Given the description of an element on the screen output the (x, y) to click on. 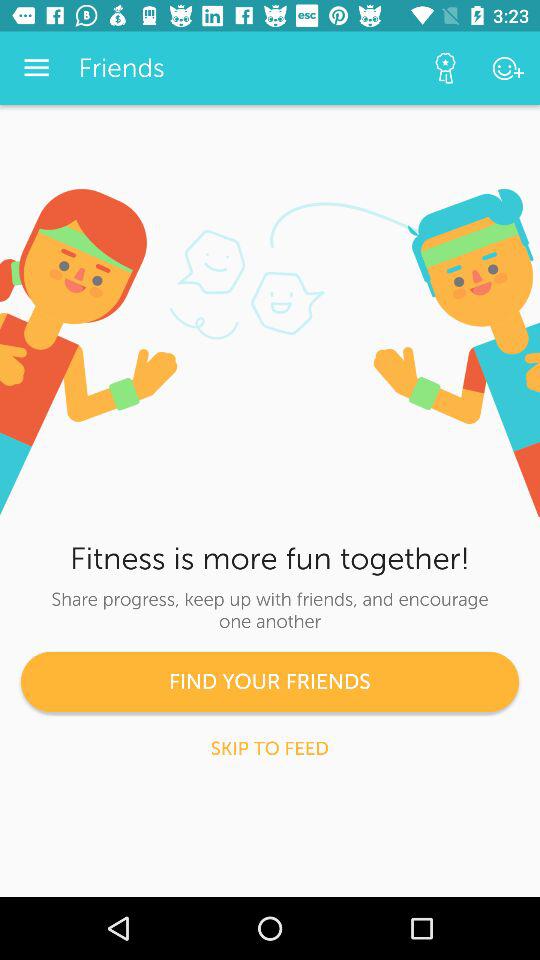
turn on the item below share progress keep (270, 681)
